Given the description of an element on the screen output the (x, y) to click on. 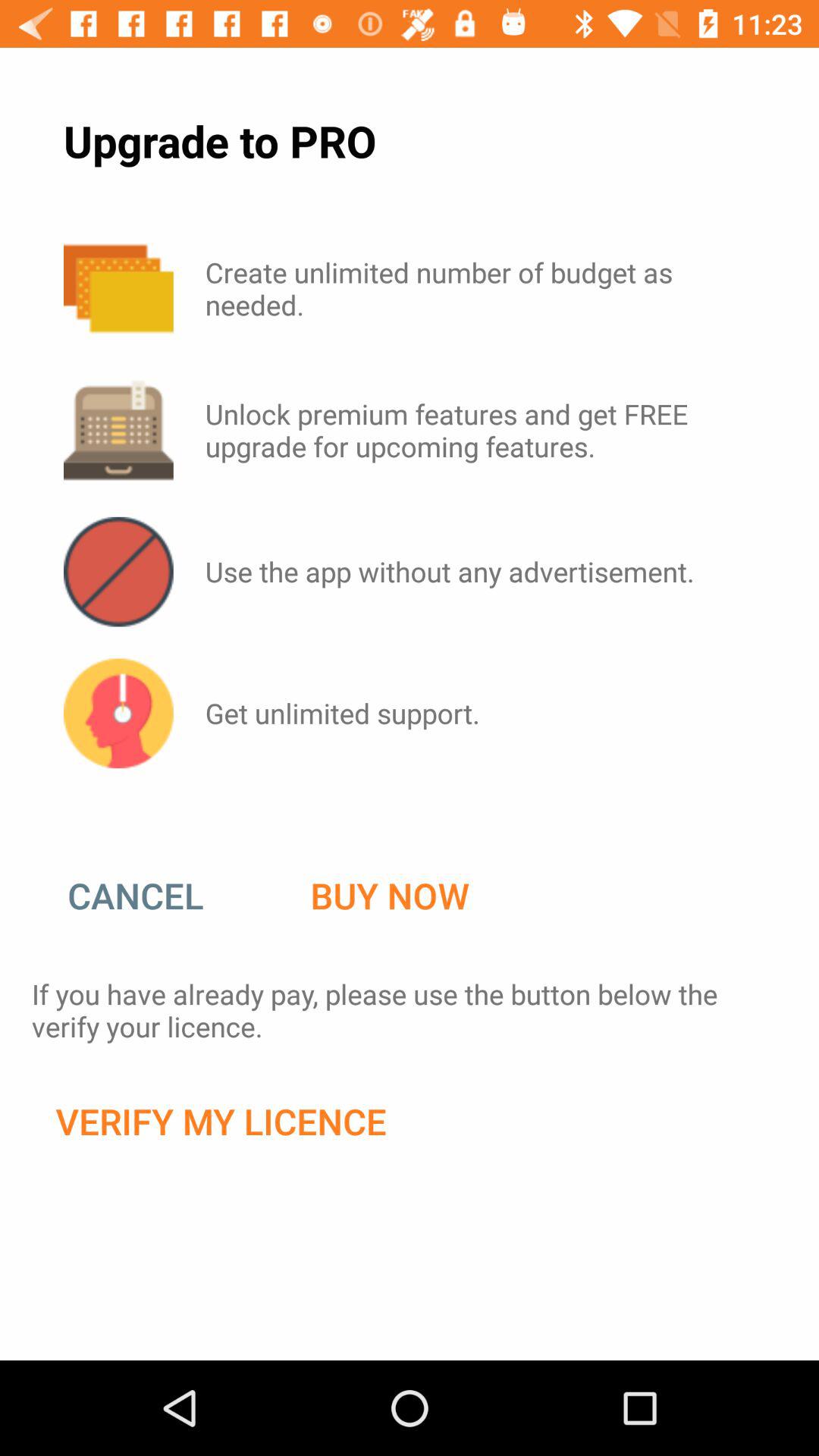
launch cancel (150, 895)
